Given the description of an element on the screen output the (x, y) to click on. 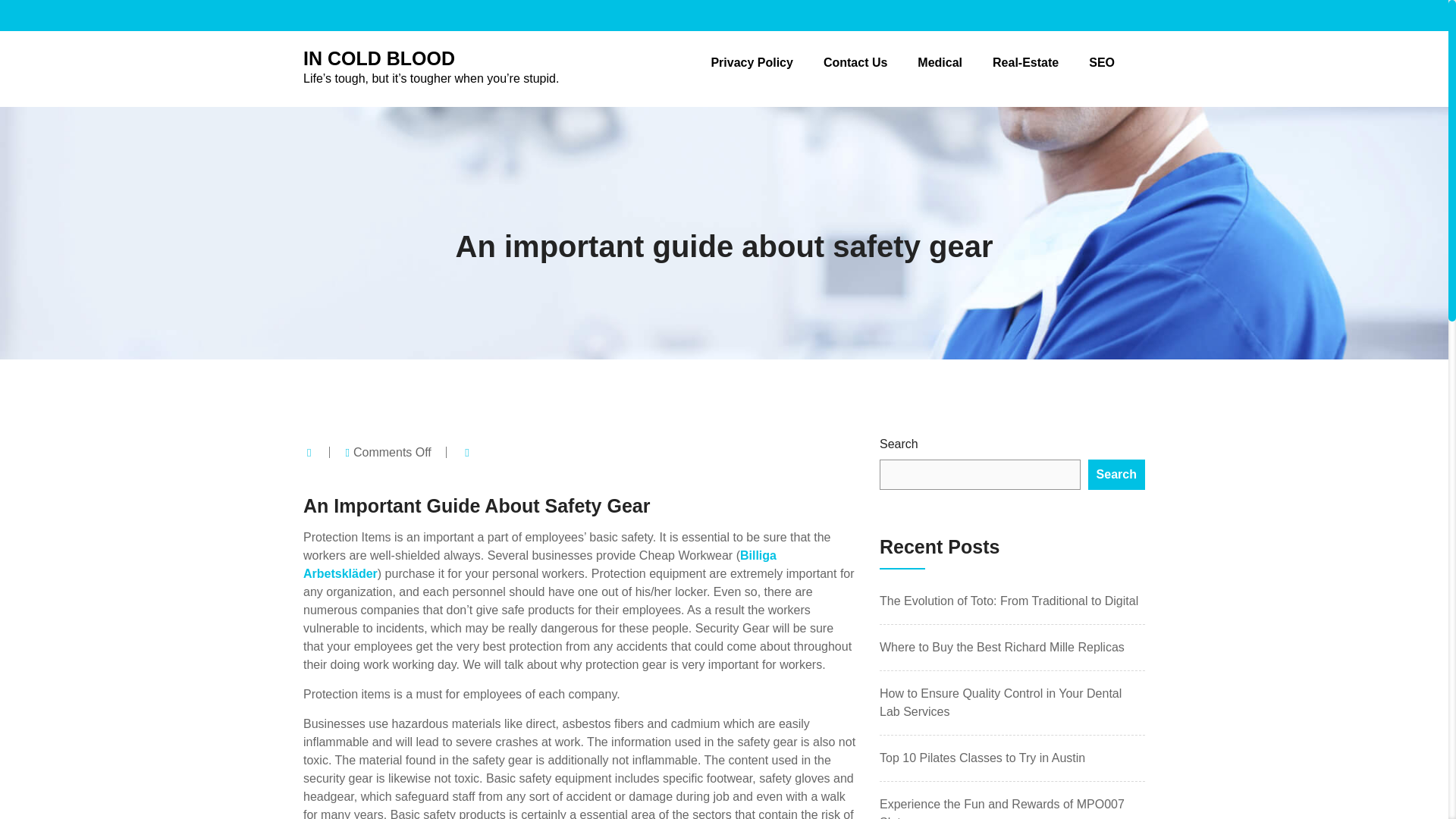
Top 10 Pilates Classes to Try in Austin (981, 757)
Experience the Fun and Rewards of MPO007 Slot (1001, 808)
How to Ensure Quality Control in Your Dental Lab Services (1000, 702)
Search (1115, 474)
An important guide about safety gear (723, 246)
The Evolution of Toto: From Traditional to Digital (1008, 600)
Privacy Policy (751, 62)
Real-Estate (1025, 62)
Medical (939, 62)
Contact Us (855, 62)
